Given the description of an element on the screen output the (x, y) to click on. 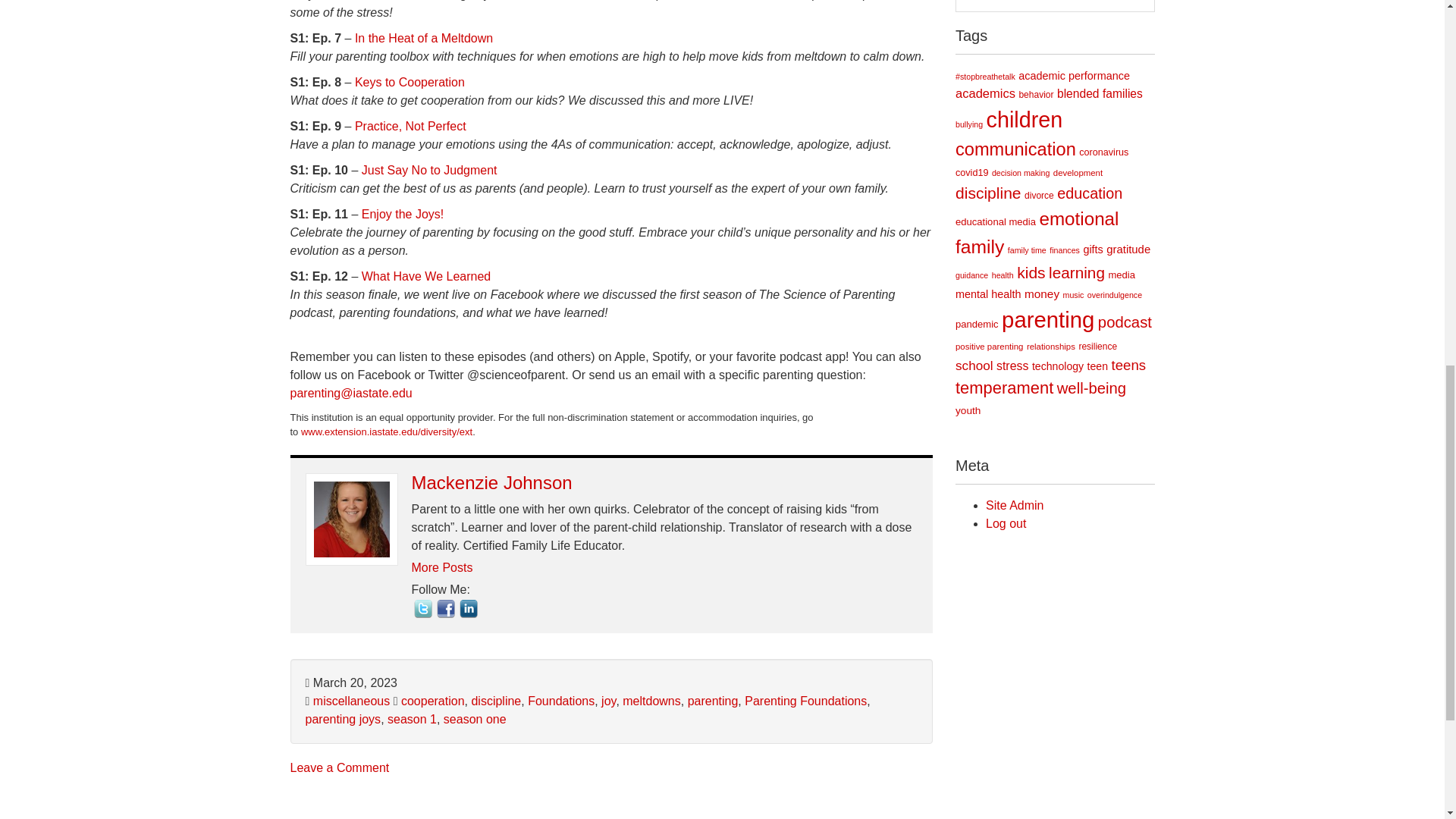
Mackenzie Johnson (491, 482)
More posts by Mackenzie Johnson (440, 567)
Last Updated (350, 682)
